Given the description of an element on the screen output the (x, y) to click on. 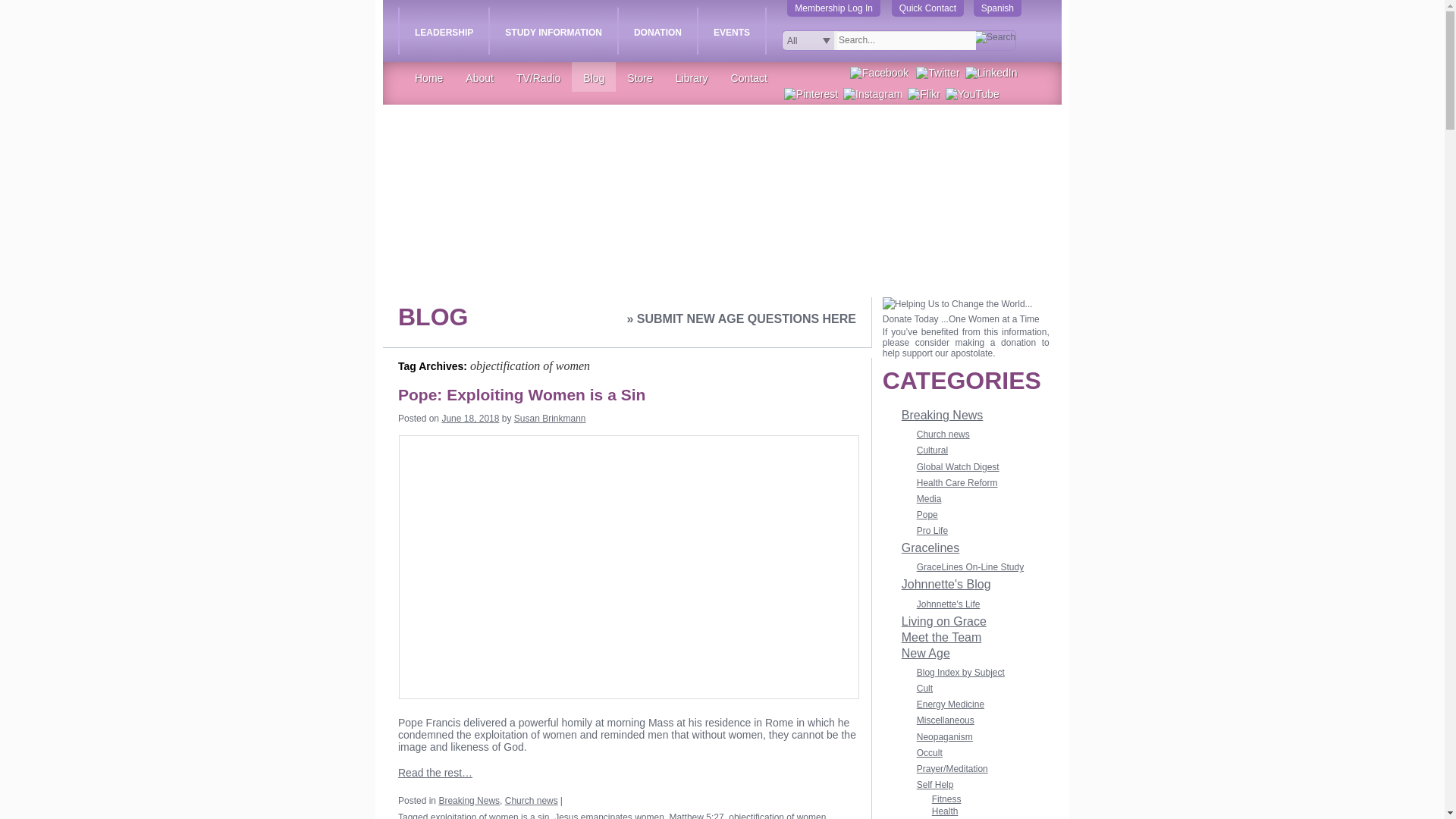
Pope: Exploiting Women is a Sin (526, 394)
Church news (531, 800)
Home (428, 78)
Home (428, 78)
Blog (593, 78)
Library (691, 78)
Contact (748, 78)
BLOG (432, 316)
exploitation of women is a sin (490, 815)
About (479, 78)
